Given the description of an element on the screen output the (x, y) to click on. 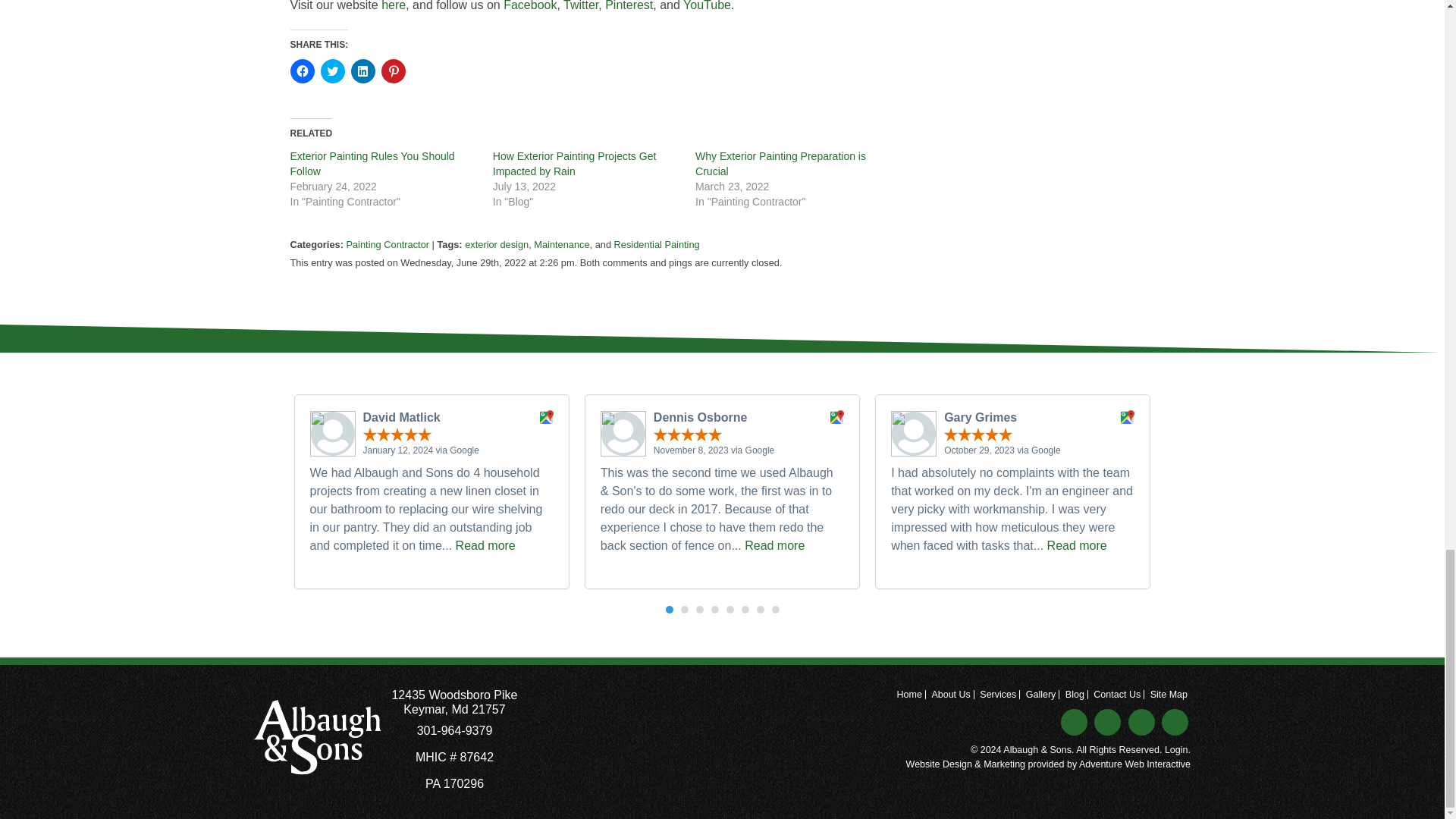
Exterior Painting Rules You Should Follow (371, 163)
Click to share on Pinterest (392, 70)
Click to share on LinkedIn (362, 70)
How Exterior Painting Projects Get Impacted by Rain (574, 163)
Why Exterior Painting Preparation is Crucial (780, 163)
Click to share on Facebook (301, 70)
Click to share on Twitter (331, 70)
